Given the description of an element on the screen output the (x, y) to click on. 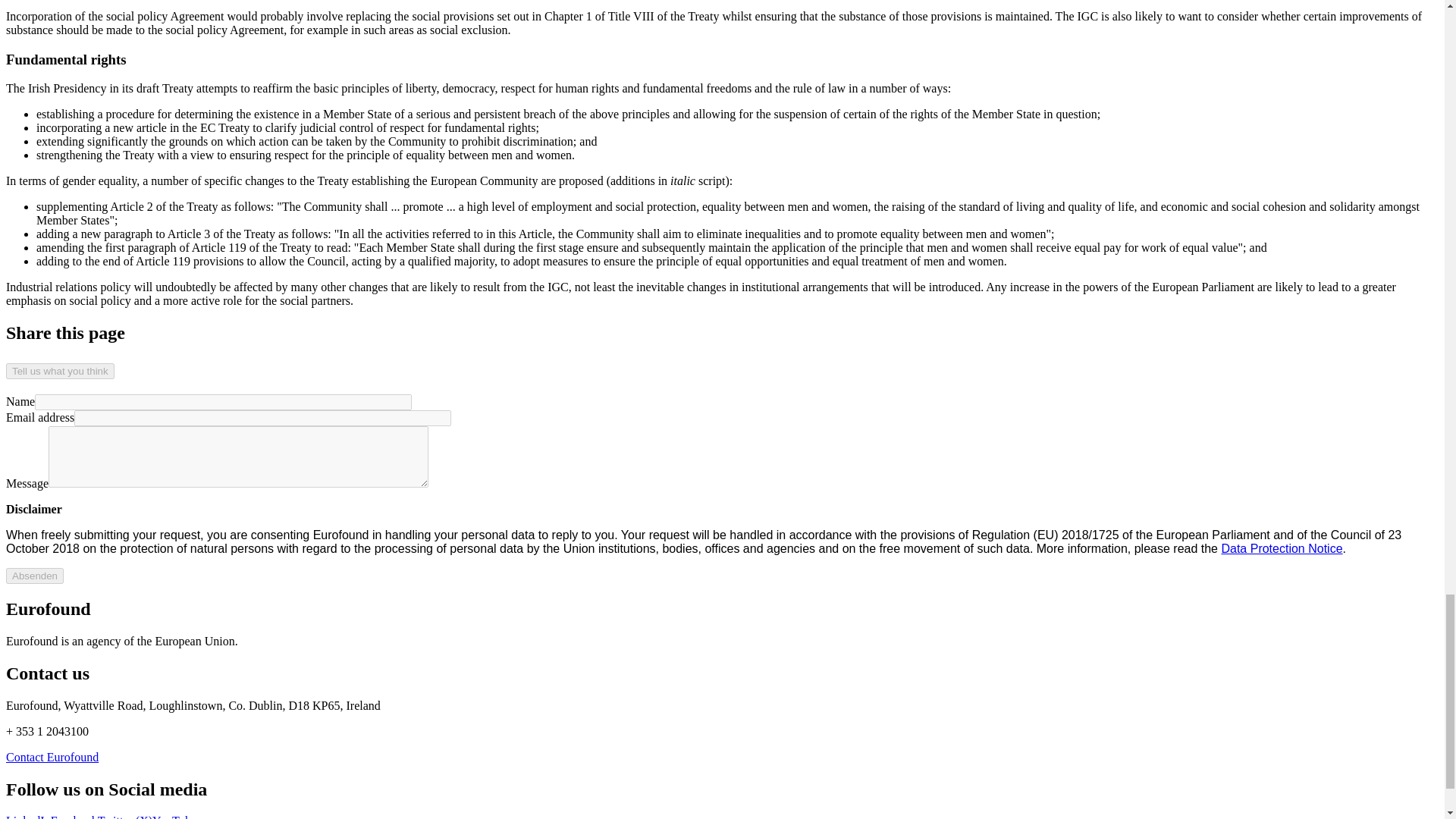
Subscribe to our YouTube channel (174, 816)
Follow us on X (124, 816)
Contact (52, 757)
Follow us on LinkedIn (27, 816)
Follow us on Facebook (73, 816)
Absenden (34, 575)
